Given the description of an element on the screen output the (x, y) to click on. 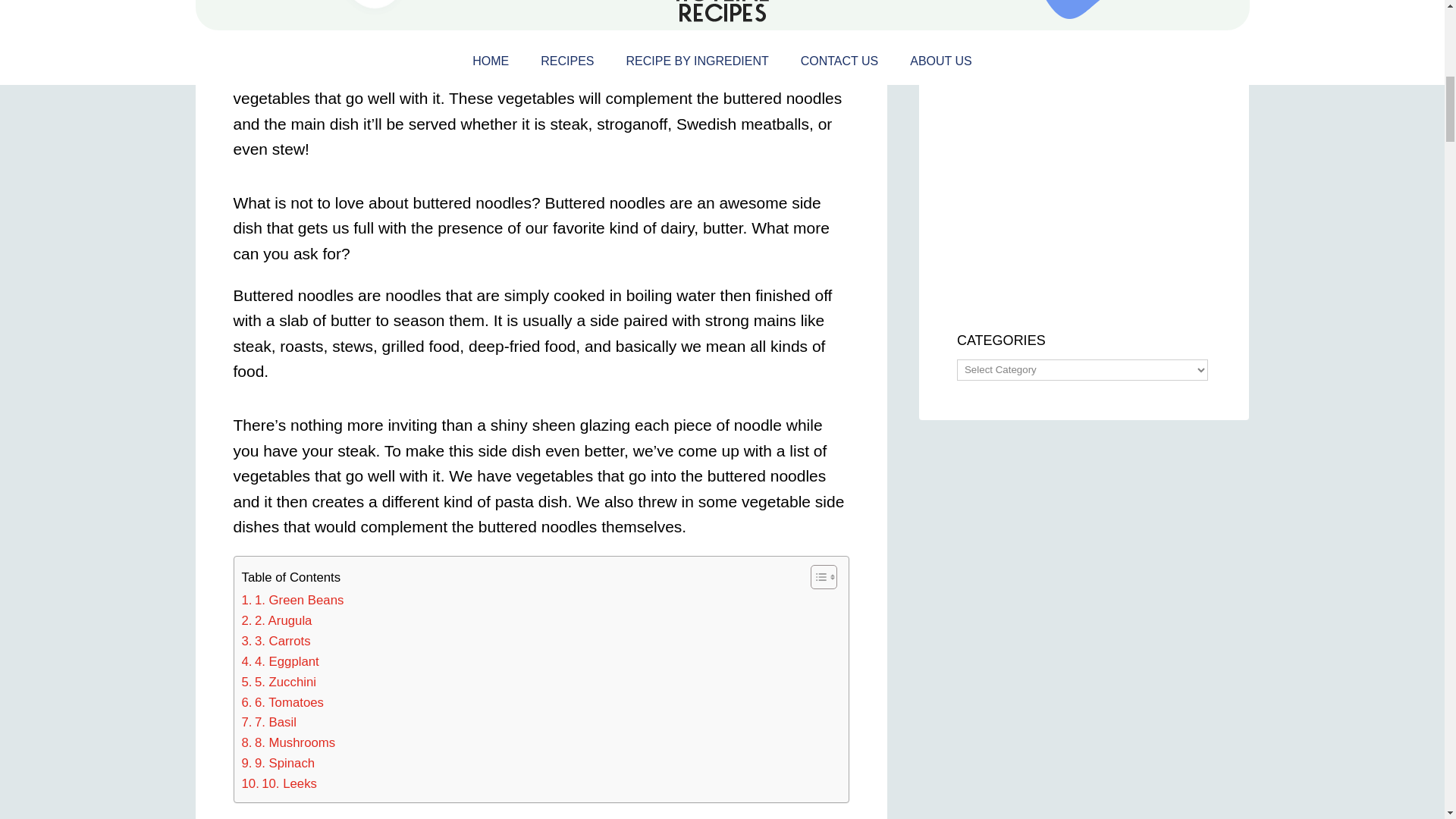
3. Carrots (275, 641)
1. Green Beans (292, 600)
7. Basil (268, 722)
7. Basil (268, 722)
2. Arugula (276, 620)
4. Eggplant (279, 661)
5. Zucchini (278, 682)
6. Tomatoes (282, 702)
8. Mushrooms (287, 743)
2. Arugula (276, 620)
10. Leeks (278, 783)
6. Tomatoes (282, 702)
4. Eggplant (279, 661)
3. Carrots (275, 641)
5. Zucchini (278, 682)
